Given the description of an element on the screen output the (x, y) to click on. 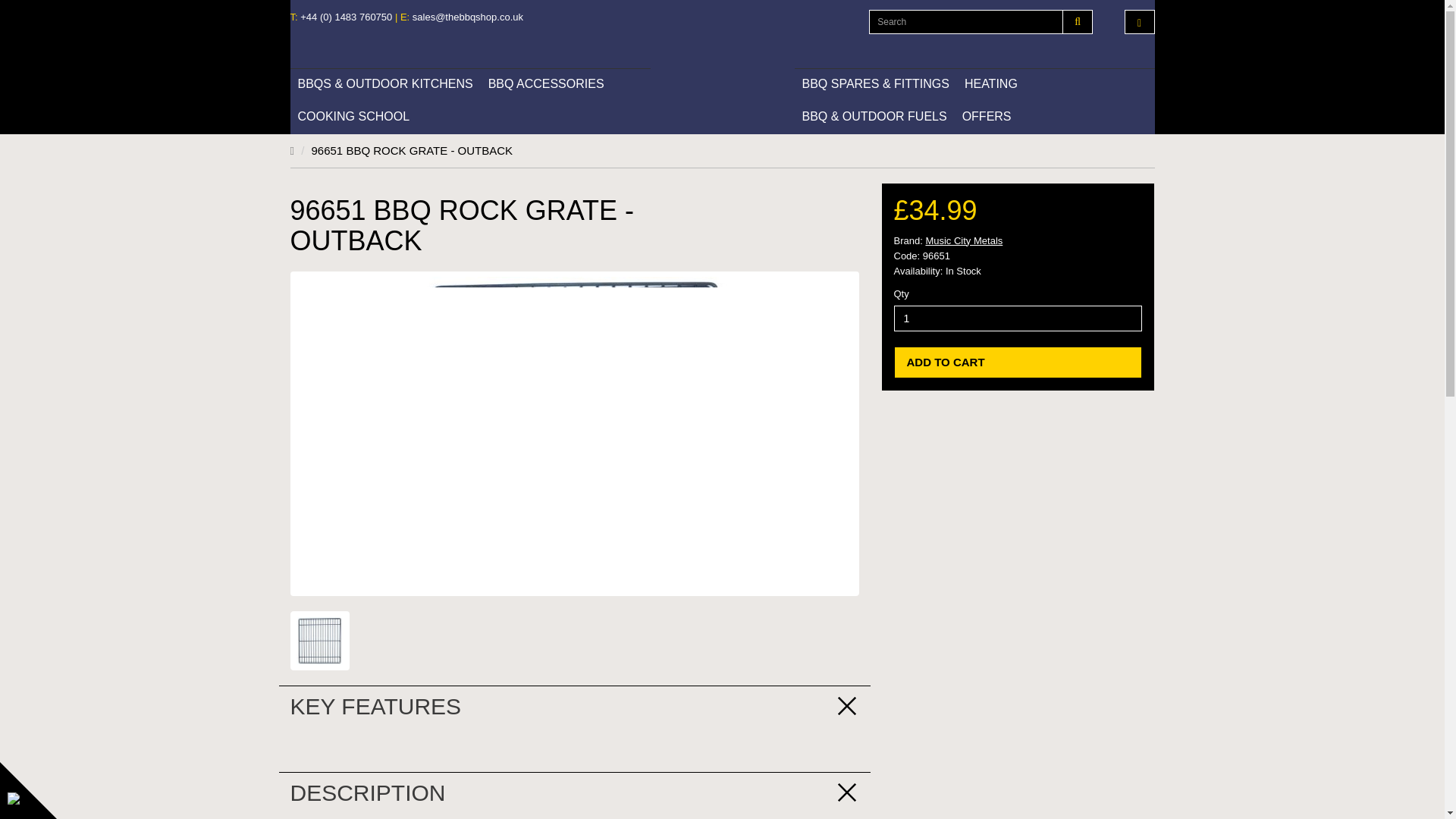
96651 BBQ Rock Grate - Outback (318, 640)
1 (1017, 318)
96651 BBQ Rock Grate - Outback (319, 640)
